Given the description of an element on the screen output the (x, y) to click on. 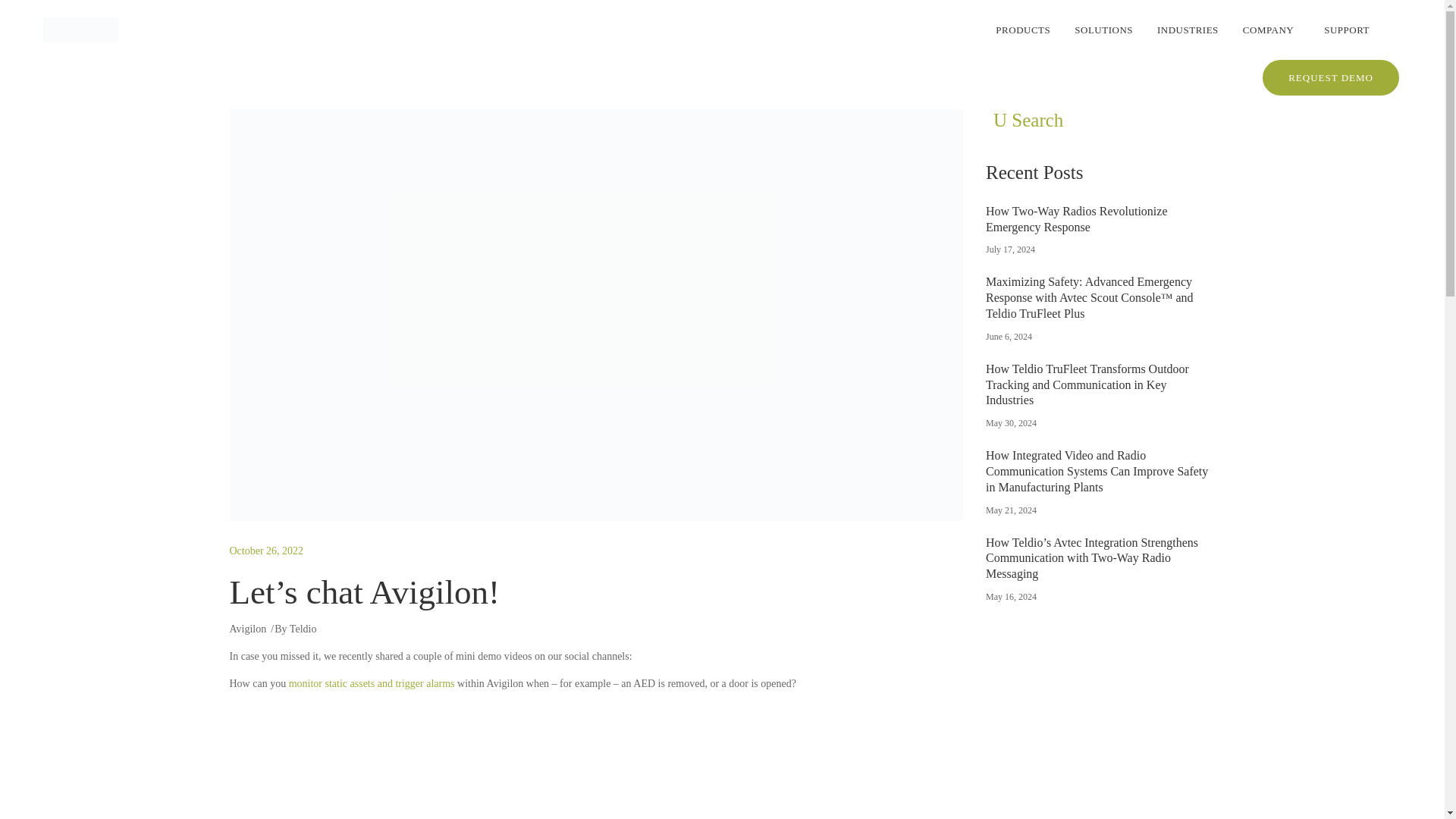
INDUSTRIES (1193, 29)
SOLUTIONS (1108, 29)
REQUEST DEMO (1330, 77)
PRODUCTS (1027, 29)
SUPPORT (1358, 29)
How Two-Way Radios Revolutionize Emergency Response (1076, 218)
Teldio Avigilon Integration - AEDs (595, 760)
COMPANY (1273, 29)
